Given the description of an element on the screen output the (x, y) to click on. 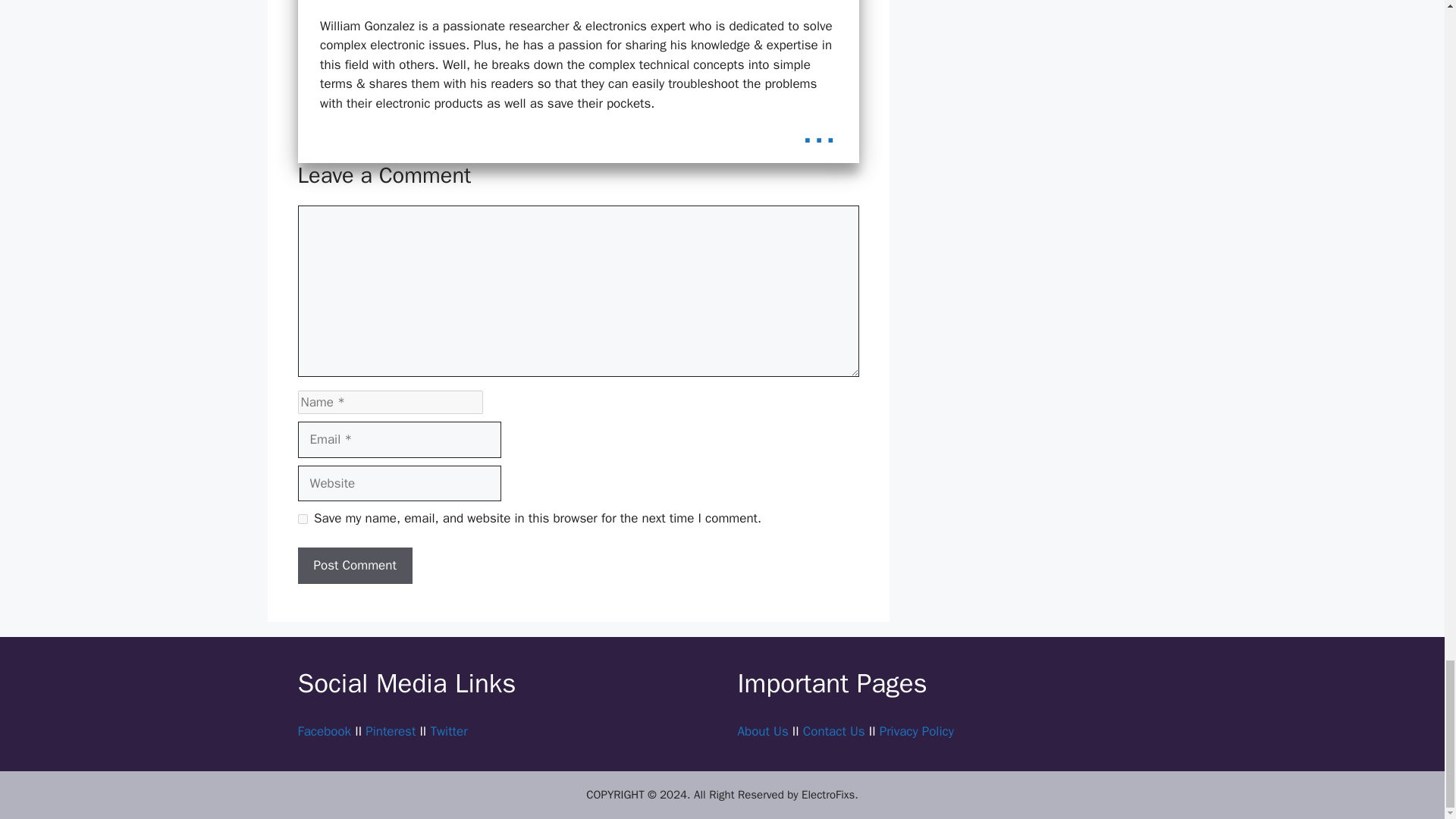
Privacy Policy (916, 731)
Pinterest (389, 731)
Contact Us (833, 731)
Facebook (323, 731)
... (818, 130)
Post Comment (354, 565)
About Us (761, 731)
Twitter (448, 731)
Post Comment (354, 565)
yes (302, 519)
